Given the description of an element on the screen output the (x, y) to click on. 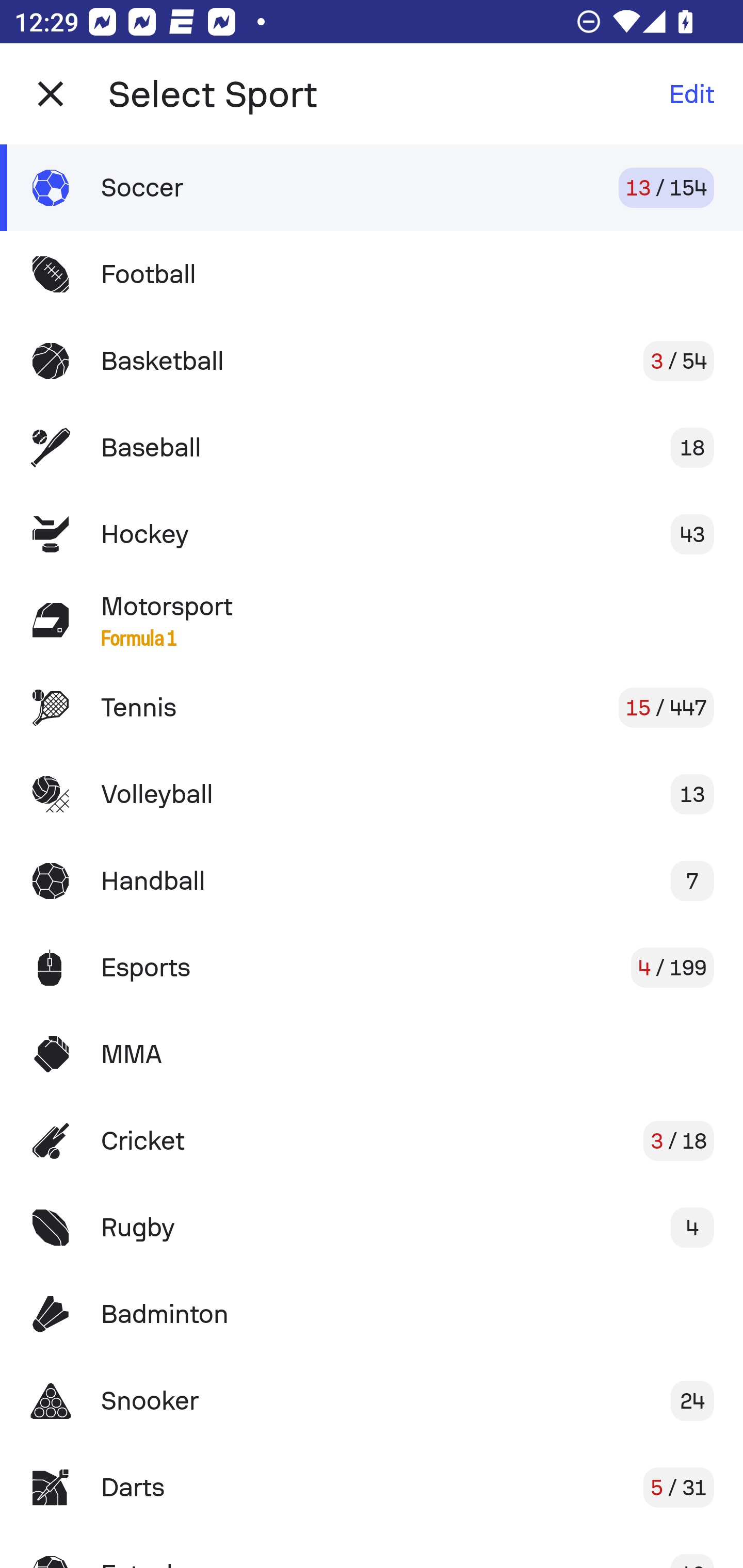
Edit (691, 93)
Soccer 13 / 154 (371, 187)
Football (371, 274)
Basketball 3 / 54 (371, 361)
Baseball 18 (371, 447)
Hockey 43 (371, 533)
Motorsport Formula 1 (371, 620)
Tennis 15 / 447 (371, 707)
Volleyball 13 (371, 794)
Handball 7 (371, 880)
Esports 4 / 199 (371, 967)
MMA (371, 1054)
Cricket 3 / 18 (371, 1140)
Rugby 4 (371, 1227)
Badminton (371, 1314)
Snooker 24 (371, 1400)
Darts 5 / 31 (371, 1487)
